Given the description of an element on the screen output the (x, y) to click on. 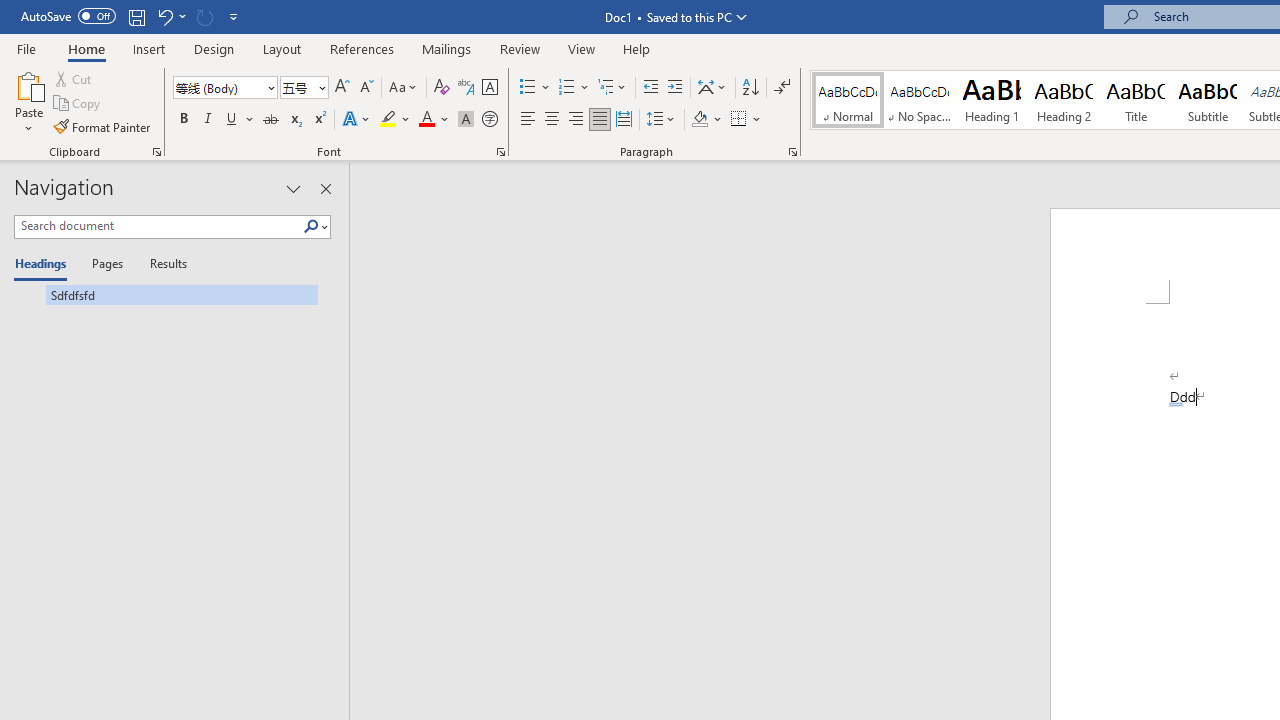
Can't Repeat (204, 15)
Undo AutoCorrect (164, 15)
Font Color Red (426, 119)
